Given the description of an element on the screen output the (x, y) to click on. 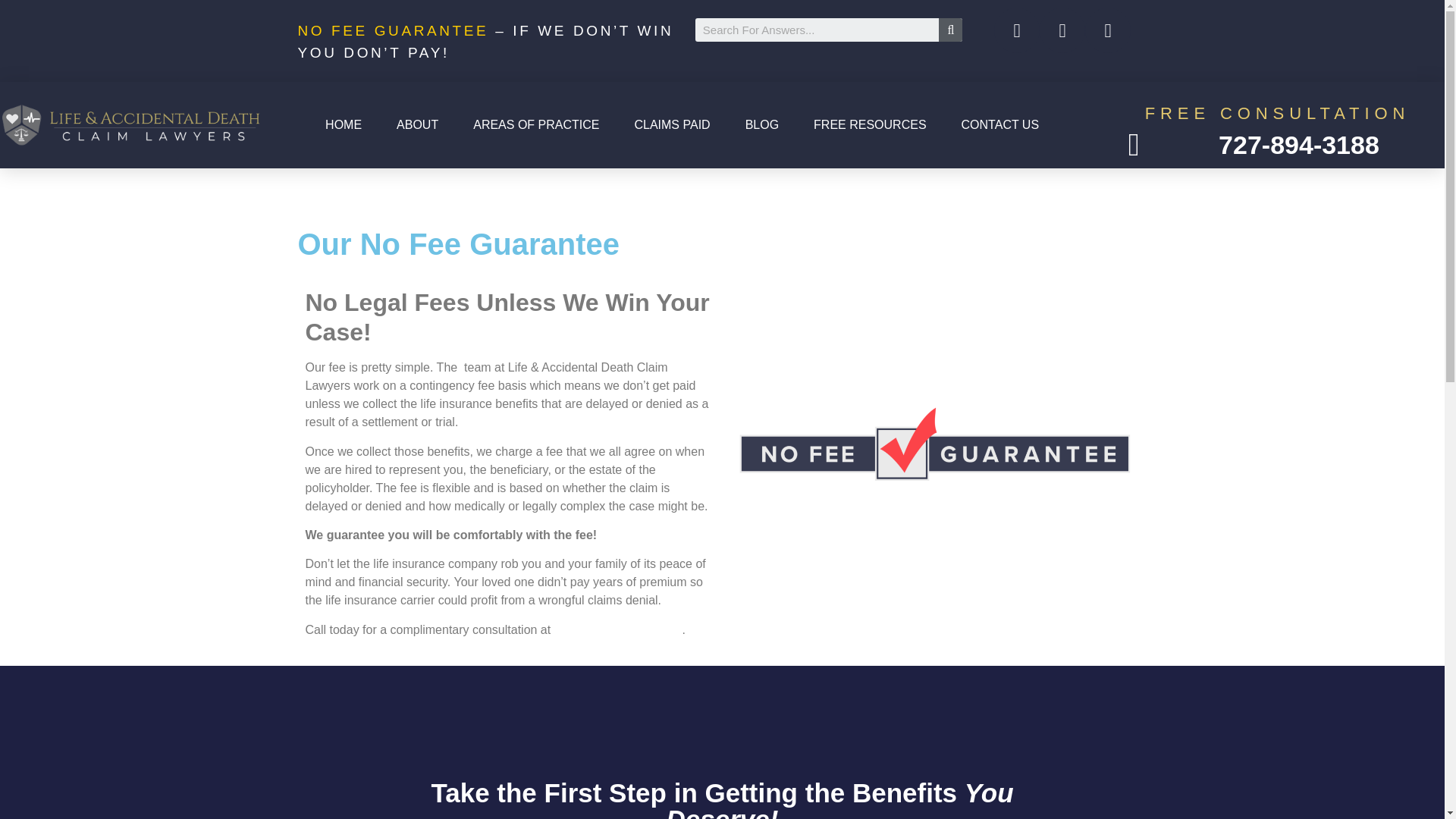
ABOUT (416, 124)
HOME (343, 124)
BLOG (761, 124)
NO FEE GUARANTEE (392, 30)
CONTACT US (1000, 124)
FREE RESOURCES (868, 124)
Search (816, 29)
AREAS OF PRACTICE (536, 124)
Search (950, 29)
CLAIMS PAID (671, 124)
